Given the description of an element on the screen output the (x, y) to click on. 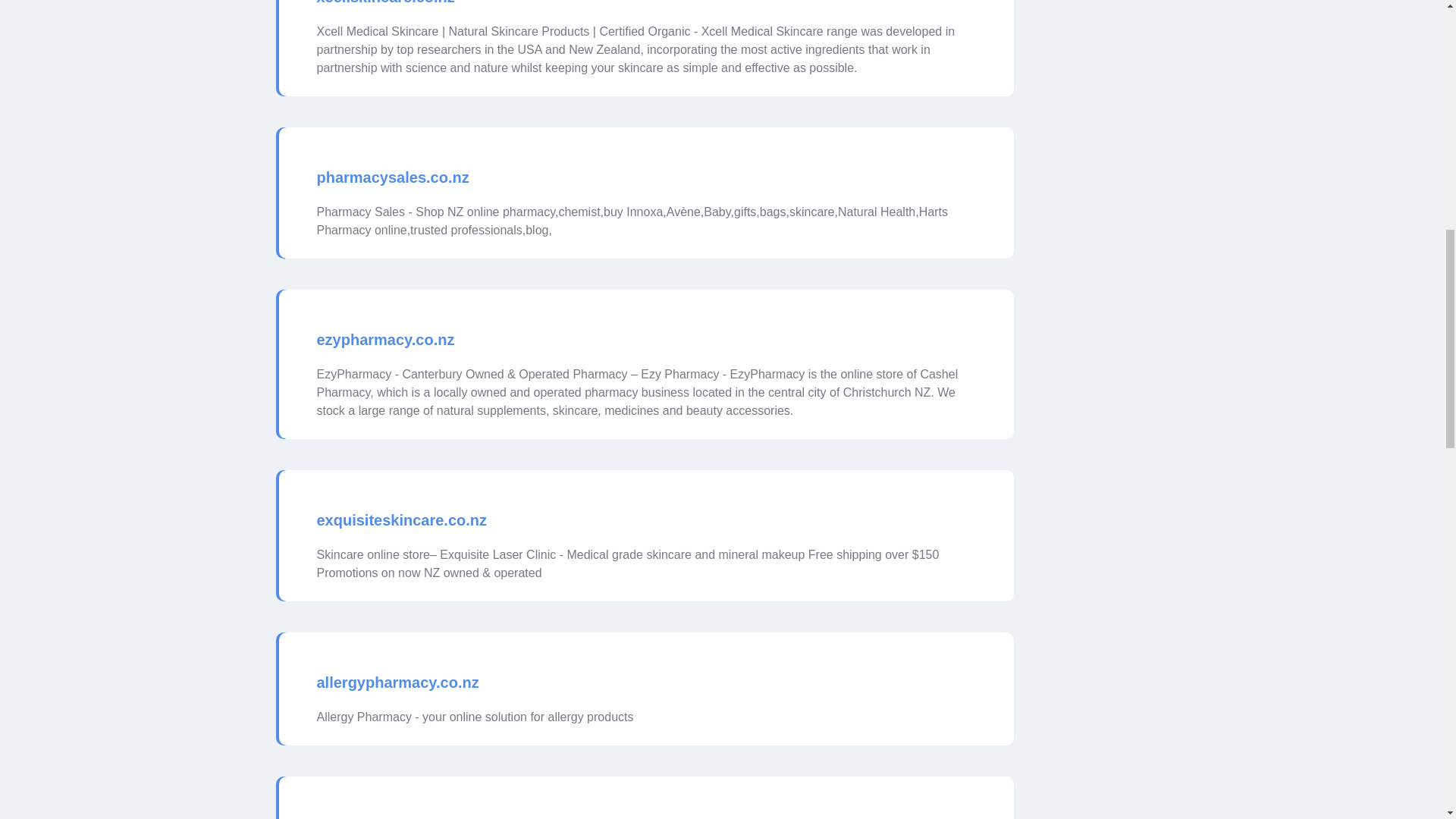
ezypharmacy.co.nz (385, 339)
bargainchemist.co.nz (394, 816)
Advertisement (1101, 32)
exquisiteskincare.co.nz (402, 519)
pharmacysales.co.nz (392, 177)
xcellskincare.co.nz (385, 4)
allergypharmacy.co.nz (398, 682)
